Given the description of an element on the screen output the (x, y) to click on. 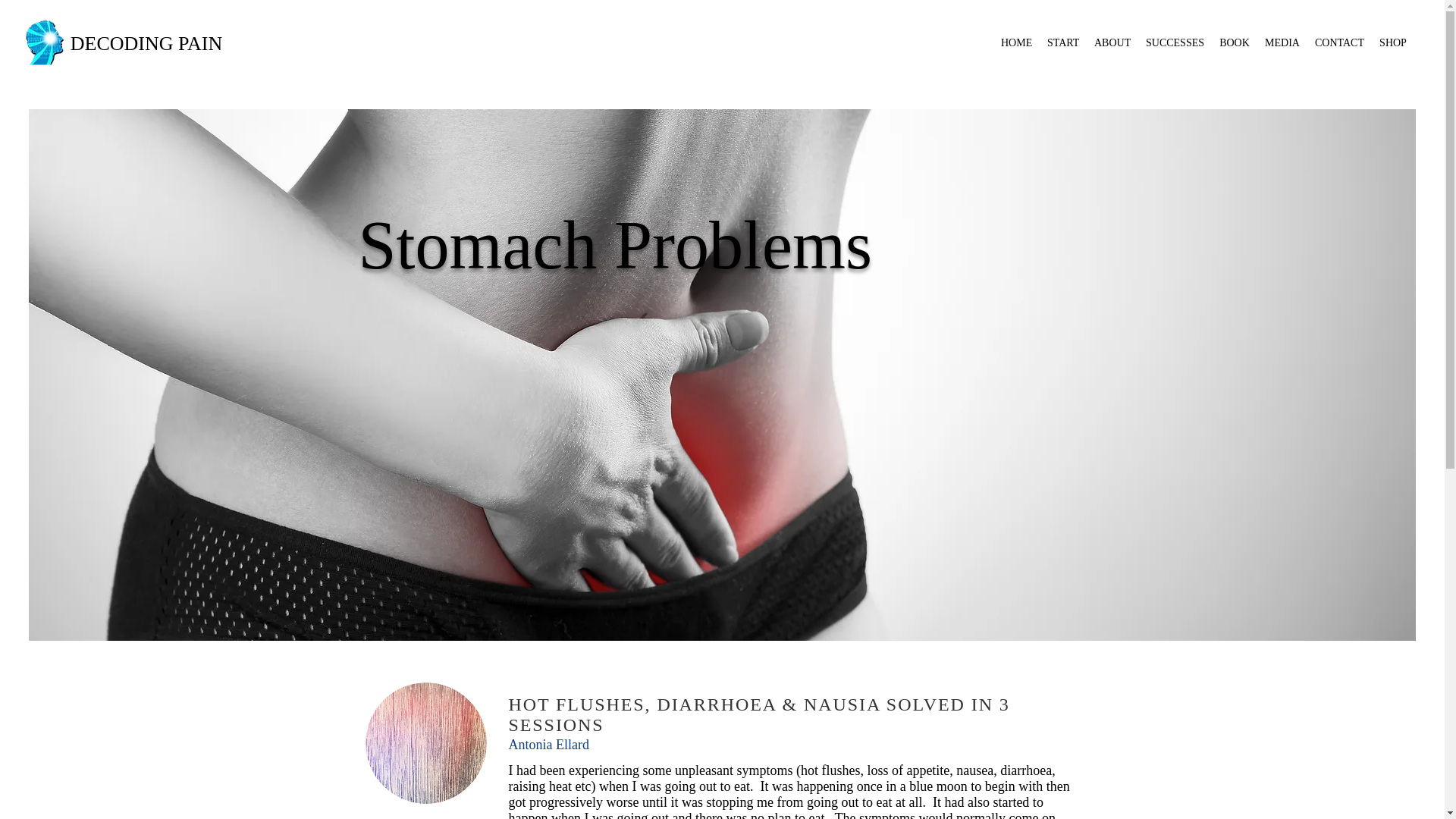
CONTACT (1339, 47)
SHOP (1392, 47)
HOME (1015, 47)
SUCCESSES (1174, 47)
BOOK (1234, 47)
